Given the description of an element on the screen output the (x, y) to click on. 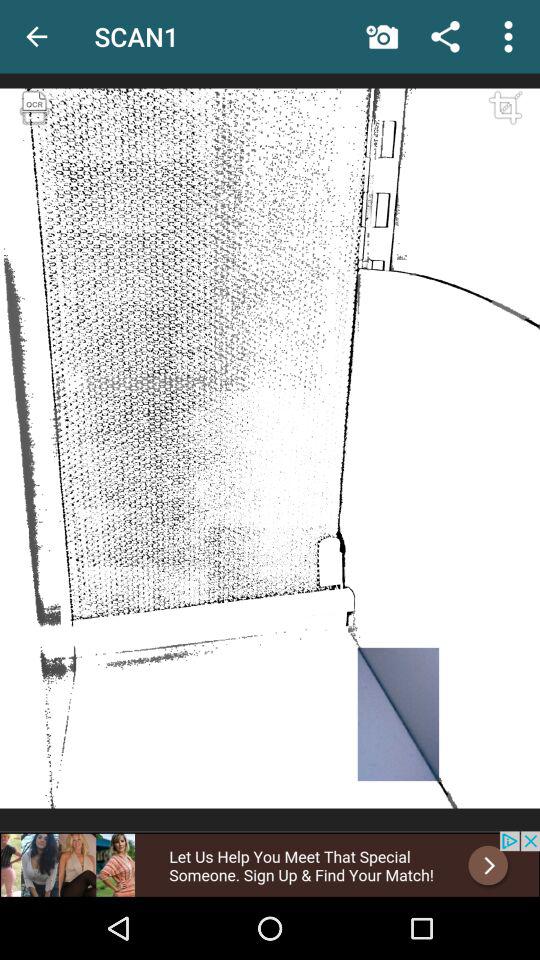
click on the option on the top right corner (508, 36)
select the square icon which is on top right (500, 128)
select share icon (445, 36)
